Given the description of an element on the screen output the (x, y) to click on. 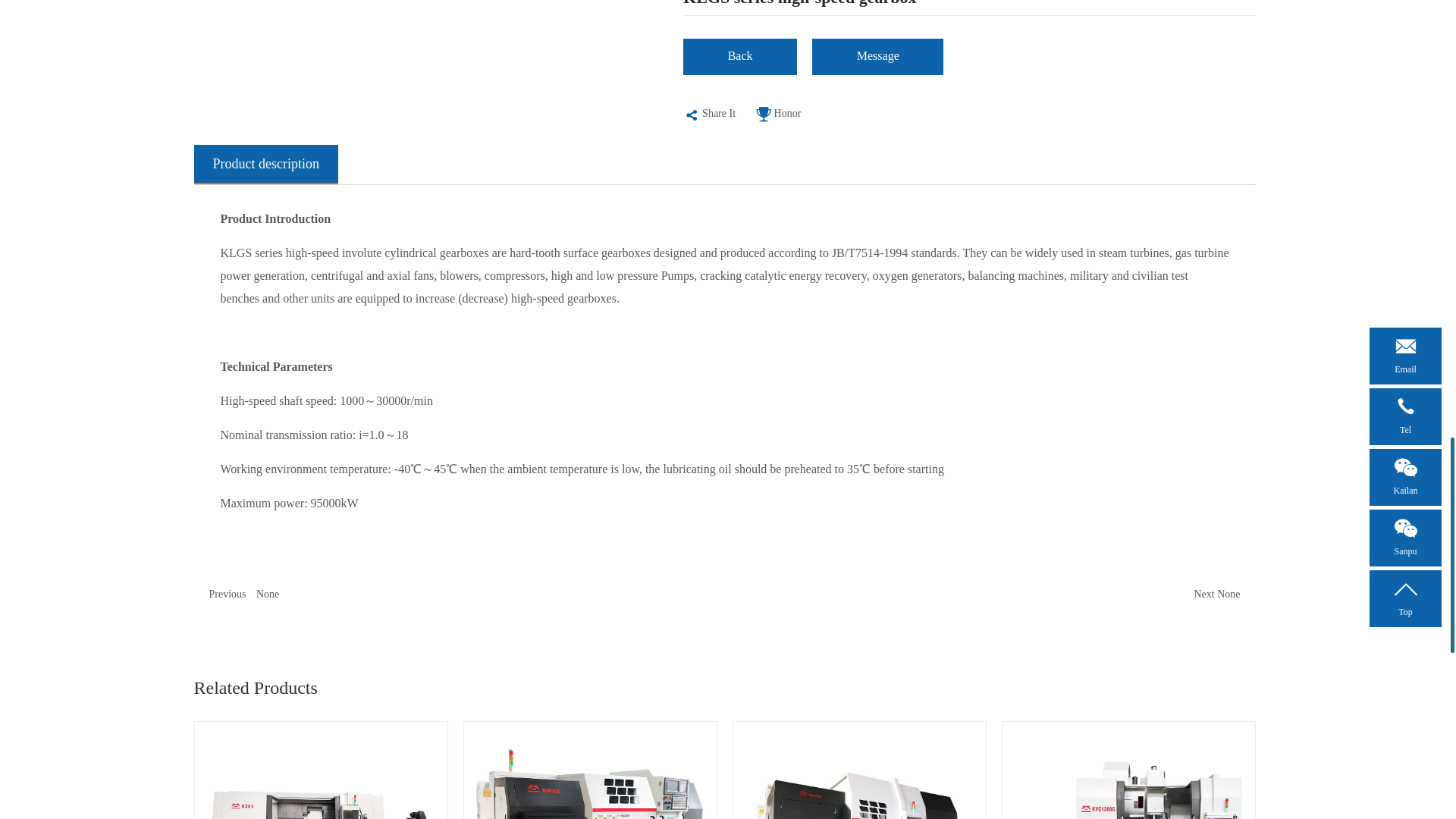
KX Series Inclined Bed CNC Lathe (320, 770)
Message (877, 59)
Back (739, 59)
KX series inclined bed CNC lathe (319, 770)
Honor (778, 113)
KW Series Flat Bed CNC Lathe (589, 770)
KW series large CNC horizontal lathe (858, 770)
KVC series vertical machining center (1129, 770)
Message (877, 56)
KW Series Large CNC Horizontal Lathe (859, 770)
